Given the description of an element on the screen output the (x, y) to click on. 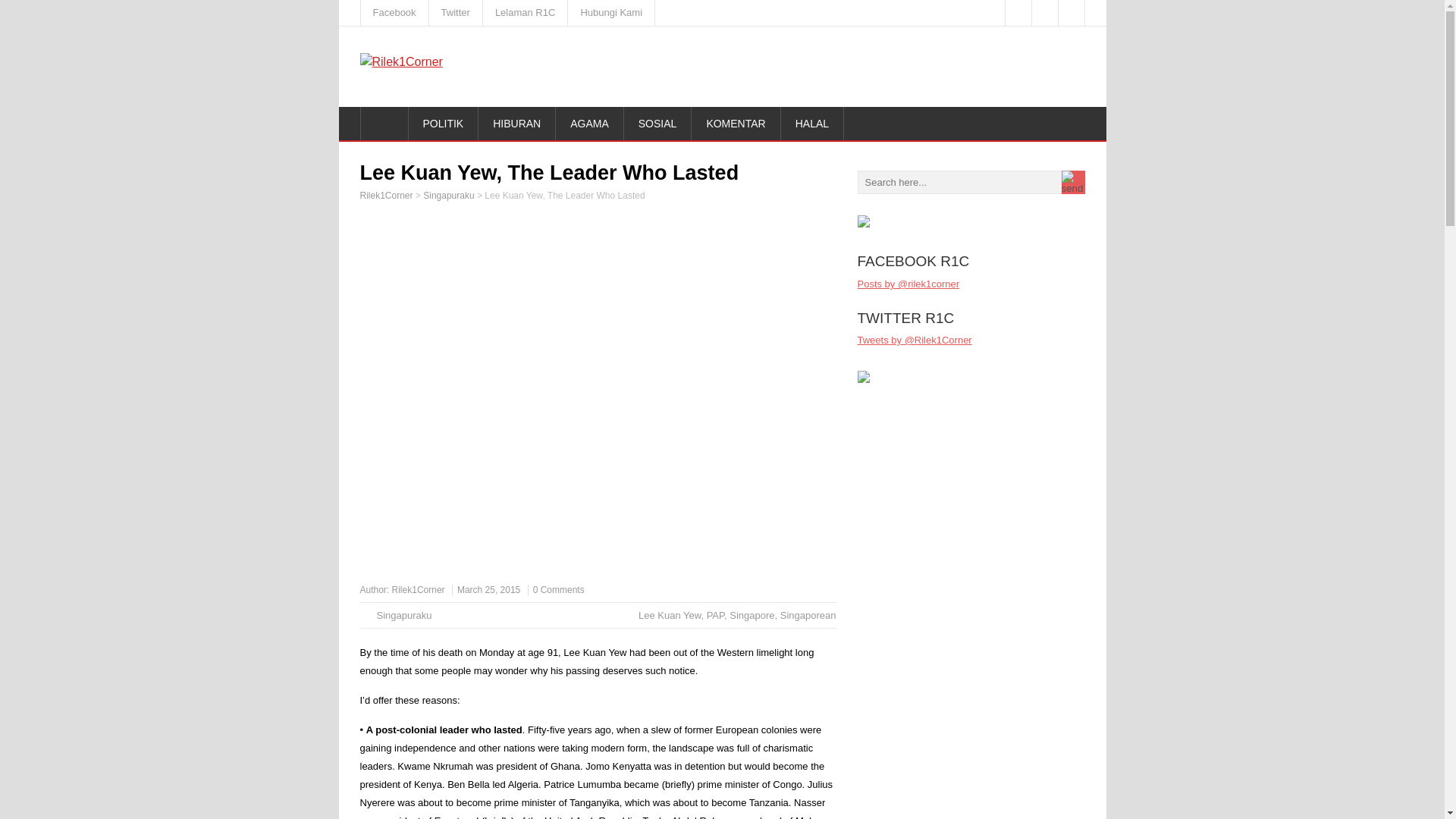
Hubungi Kami (611, 12)
Twitter (456, 12)
Lee Kuan Yew (669, 614)
Rilek1Corner (418, 589)
0 Comments (558, 589)
SOSIAL (658, 123)
HIBURAN (517, 123)
Singapuraku (402, 614)
Lelaman R1C (526, 12)
Singapuraku (448, 195)
Facebook (395, 12)
PAP (714, 614)
POLITIK (443, 123)
Go to Rilek1Corner. (385, 195)
Rilek1Corner (385, 195)
